Given the description of an element on the screen output the (x, y) to click on. 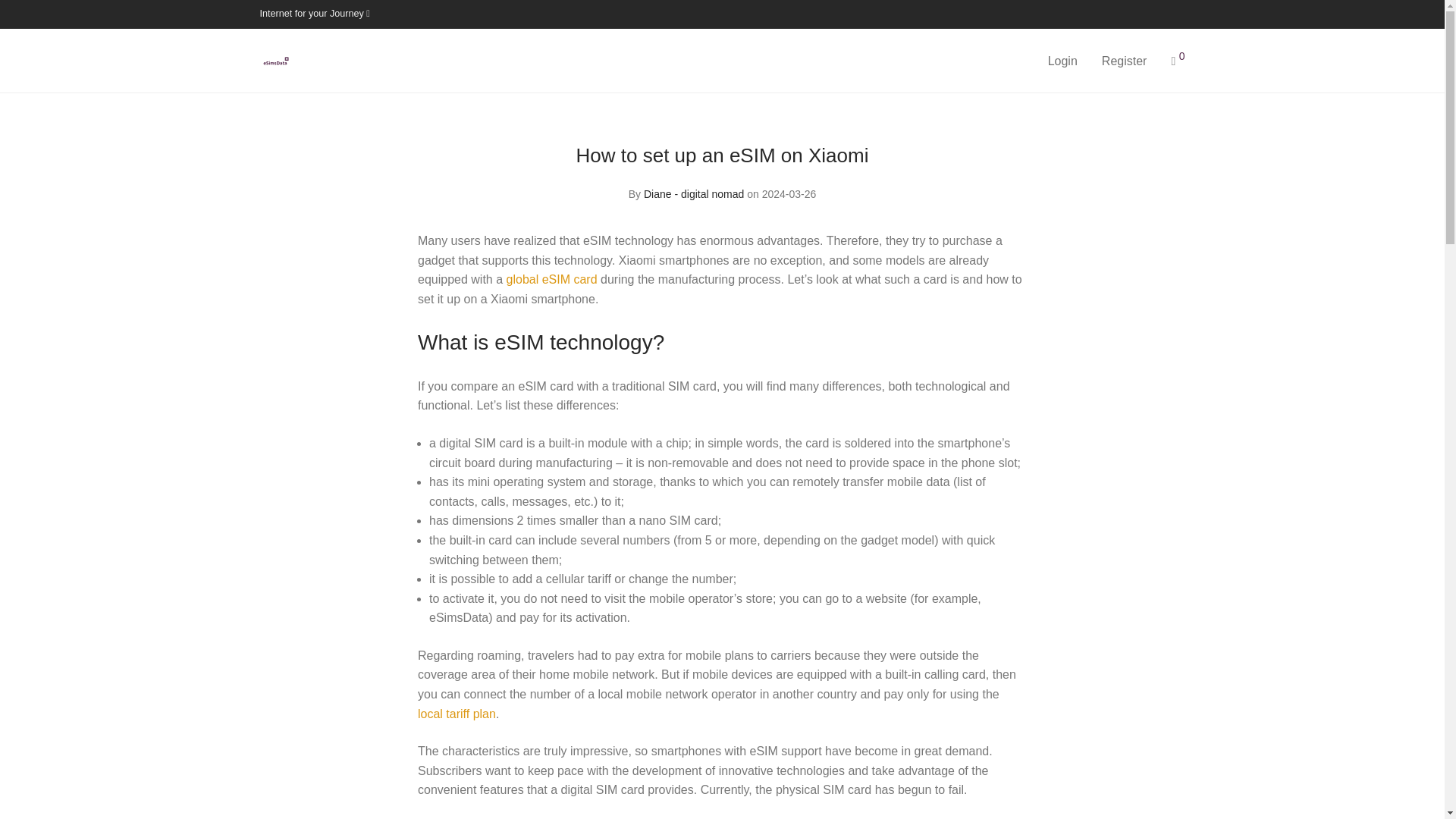
global eSIM card (551, 278)
Register (1123, 61)
local tariff plan (456, 713)
Login (1062, 61)
Posts by Diane - digital nomad (693, 193)
Diane - digital nomad (693, 193)
0 (1177, 61)
